Given the description of an element on the screen output the (x, y) to click on. 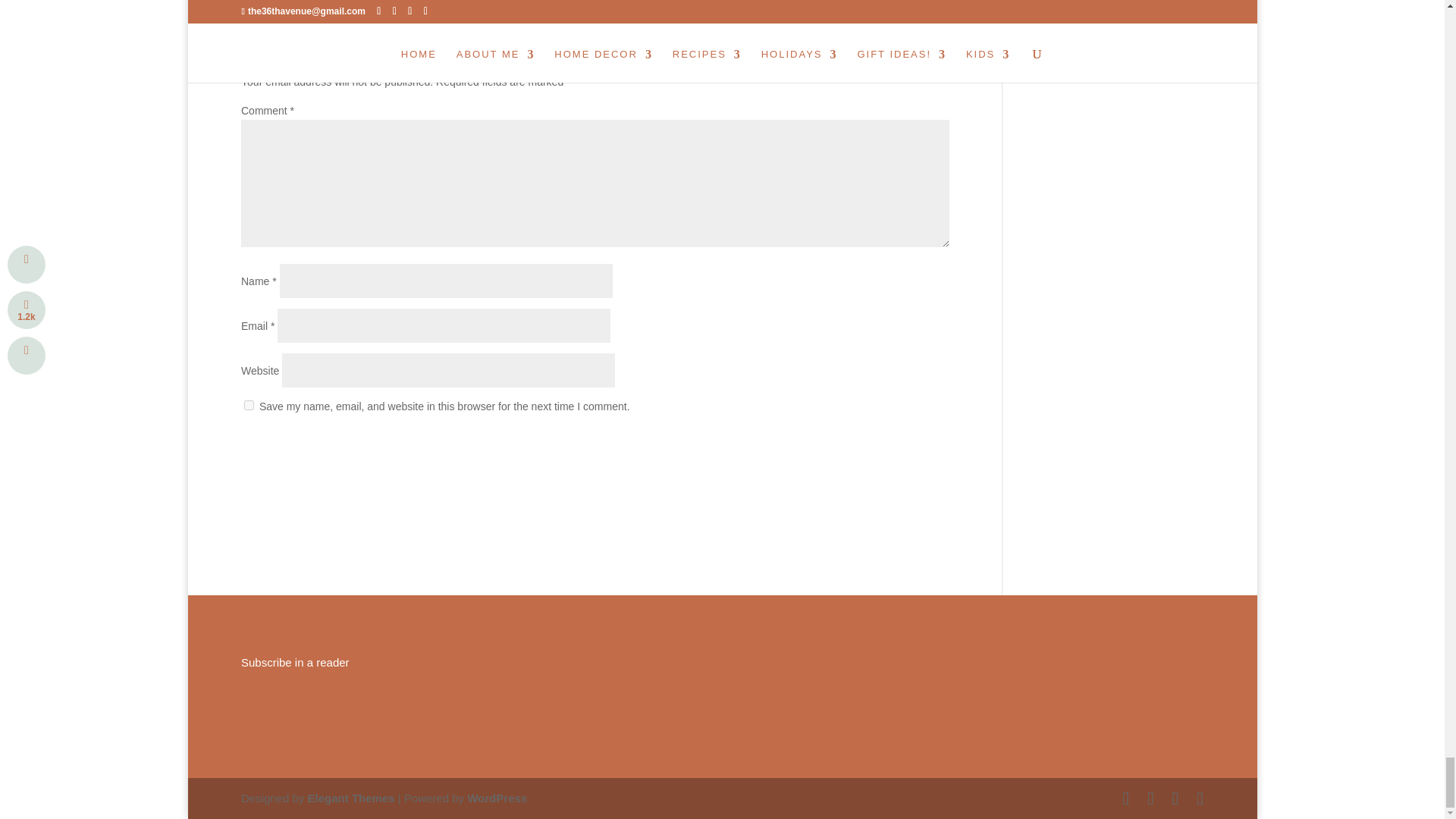
Premium WordPress Themes (350, 797)
Subscribe to my feed (295, 662)
yes (248, 405)
Submit Comment (874, 445)
